Given the description of an element on the screen output the (x, y) to click on. 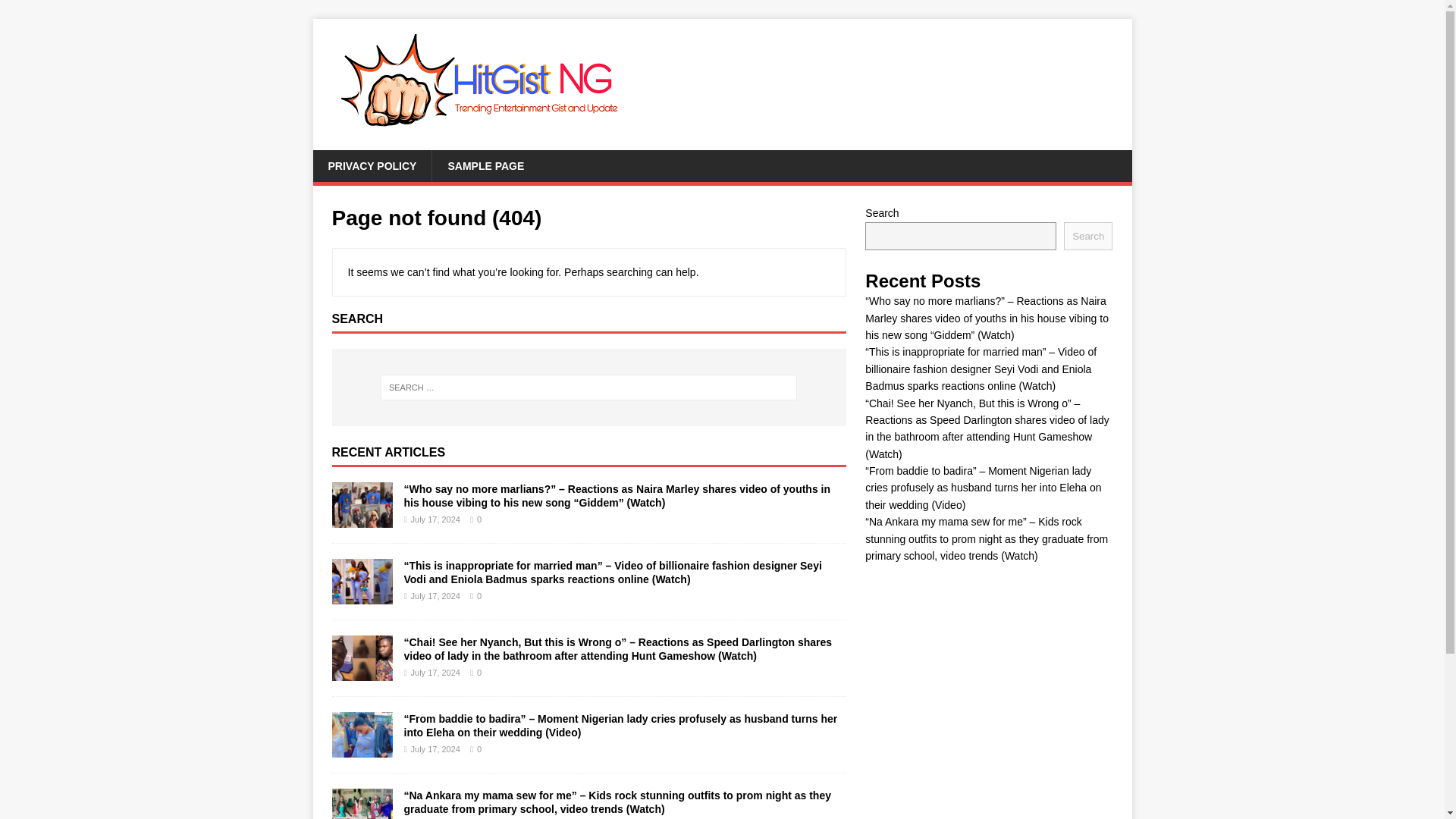
0 (479, 748)
0 (479, 595)
SAMPLE PAGE (484, 165)
Search (1088, 235)
0 (479, 519)
Search (56, 11)
0 (479, 672)
PRIVACY POLICY (371, 165)
